Given the description of an element on the screen output the (x, y) to click on. 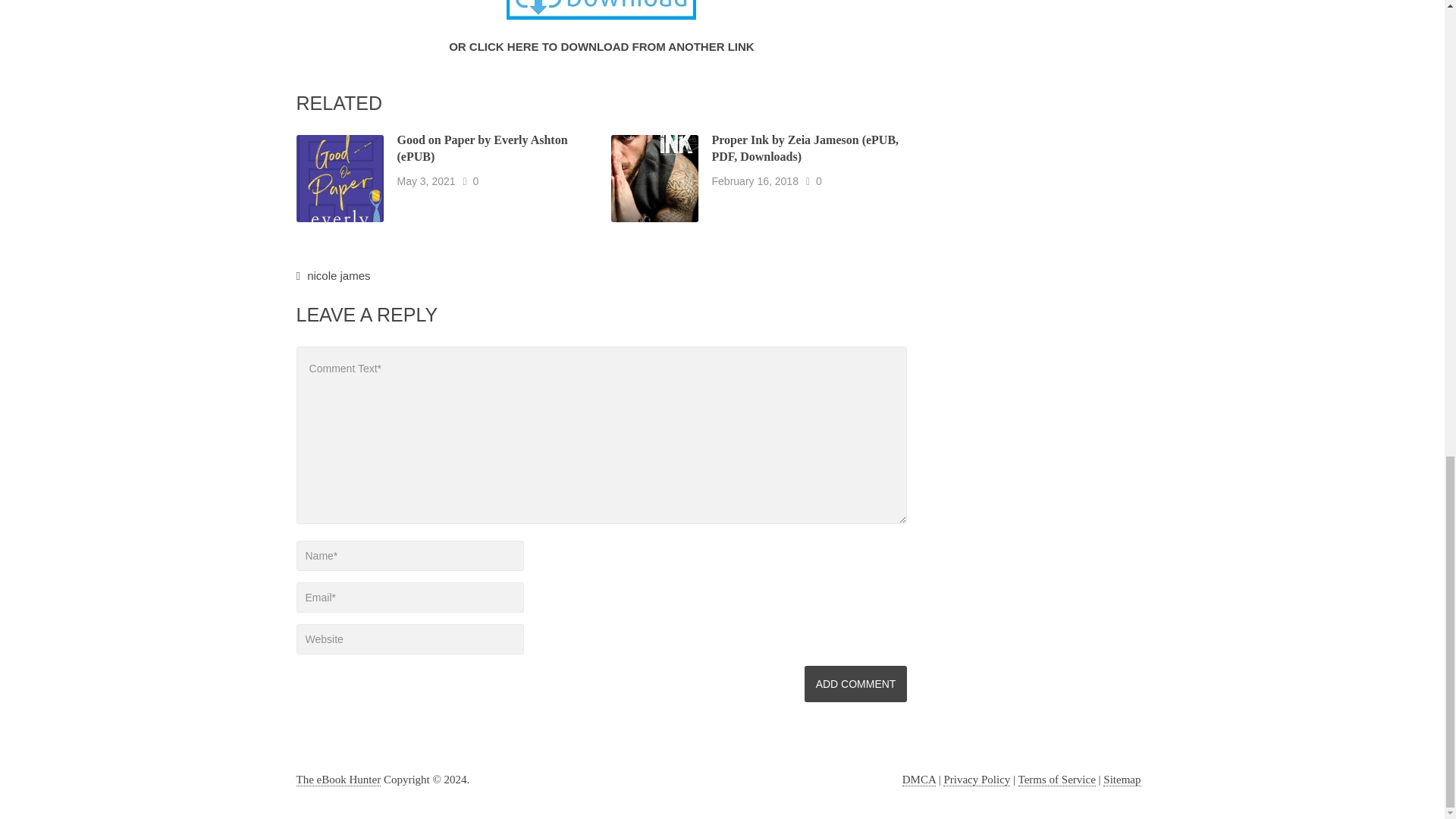
0 (818, 180)
0 (475, 180)
Add Comment (856, 683)
nicole james (338, 275)
Add Comment (856, 683)
OR CLICK HERE TO DOWNLOAD FROM ANOTHER LINK (601, 46)
